Given the description of an element on the screen output the (x, y) to click on. 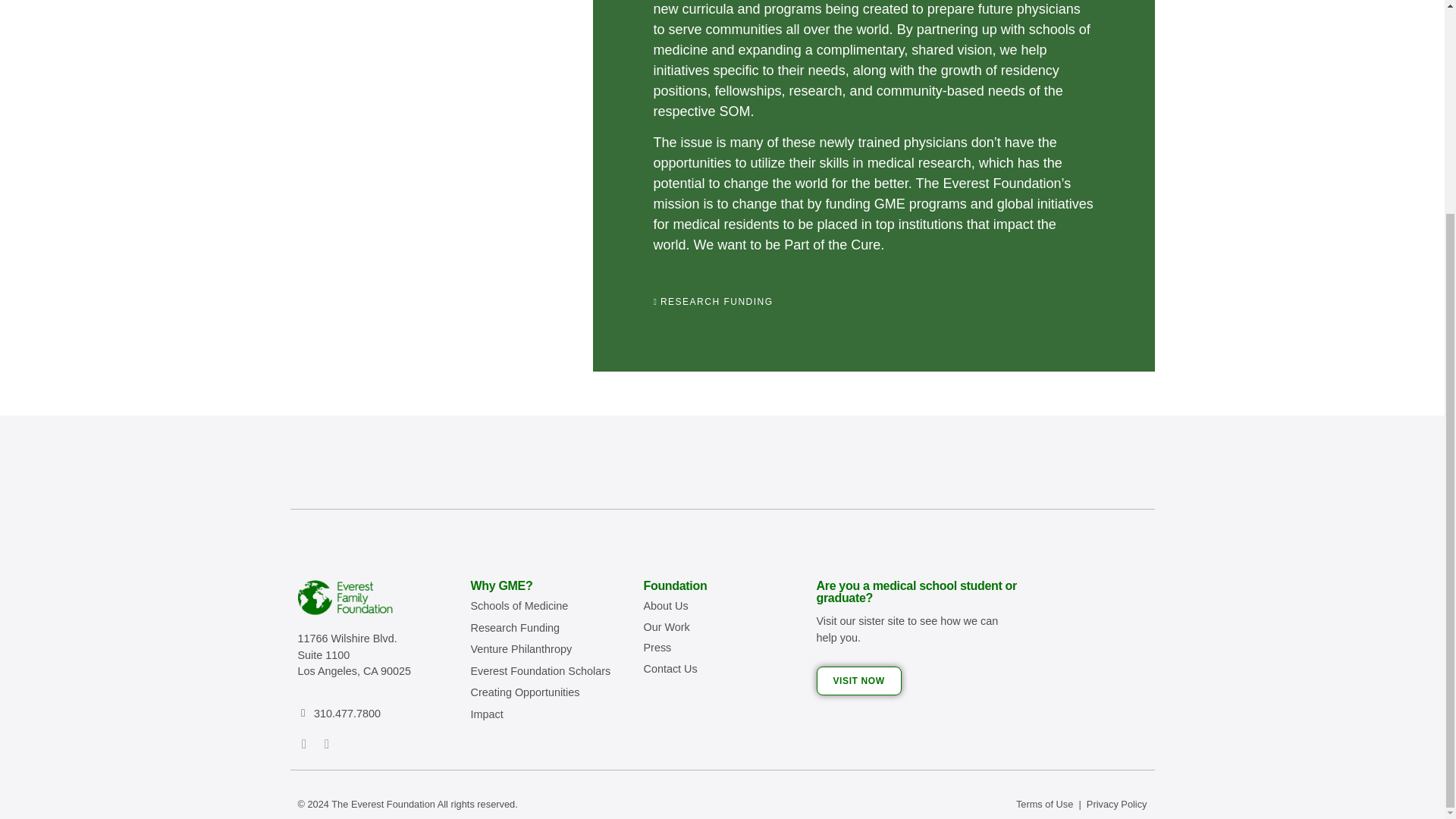
310.477.7800 (347, 713)
Contact Us (721, 669)
Our Work (721, 627)
Schools of Medicine (518, 605)
About Us (721, 606)
Venture Philanthropy (521, 648)
Creating Opportunities (524, 692)
VISIT NOW (858, 680)
RESEARCH FUNDING (717, 301)
Everest Foundation Scholars (540, 671)
